Given the description of an element on the screen output the (x, y) to click on. 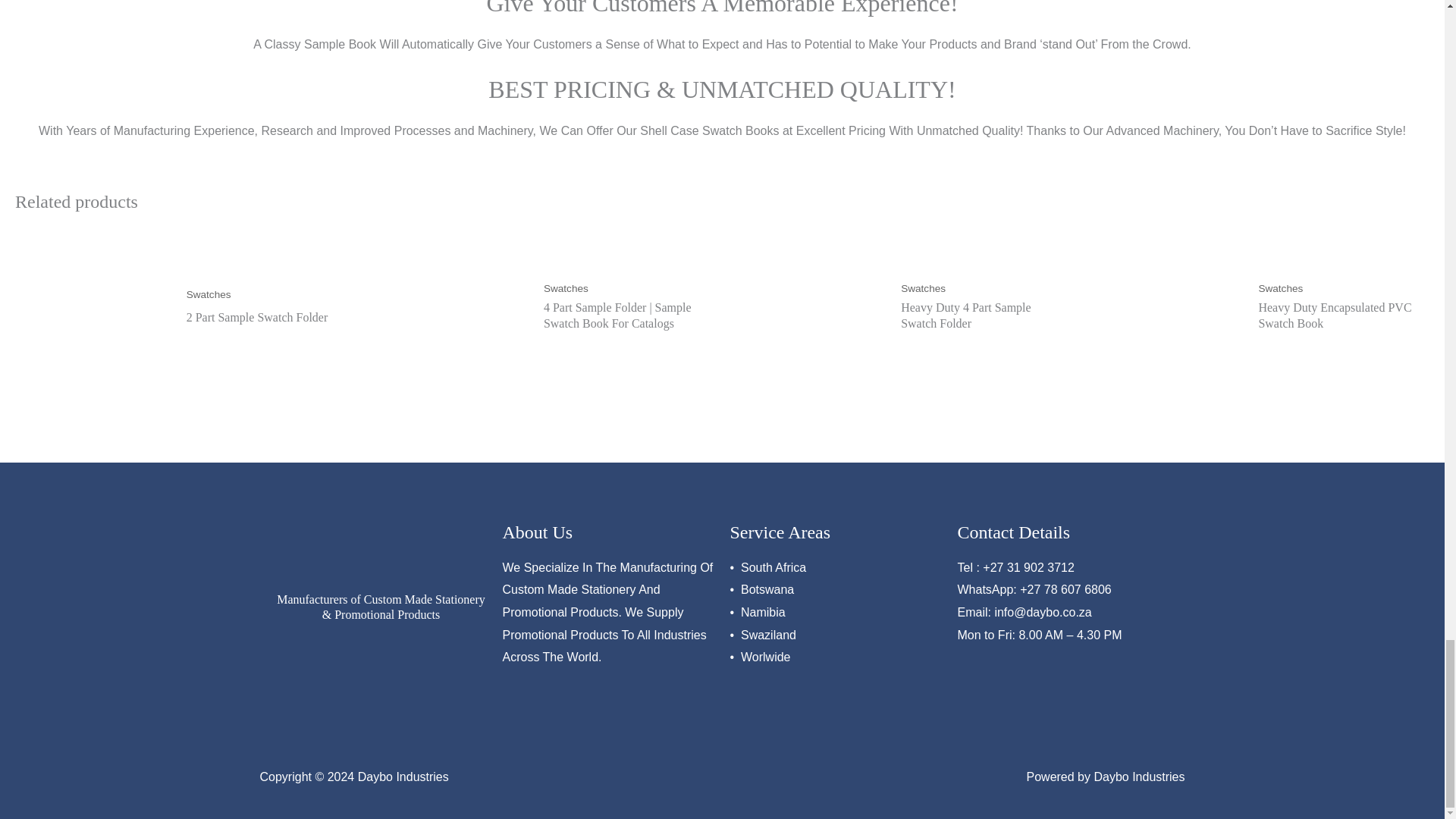
2 Part Sample Swatch Folder (264, 321)
Heavy Duty Encapsulated PVC Swatch Book (1335, 319)
Heavy Duty 4 Part Sample Swatch Folder (979, 319)
